Given the description of an element on the screen output the (x, y) to click on. 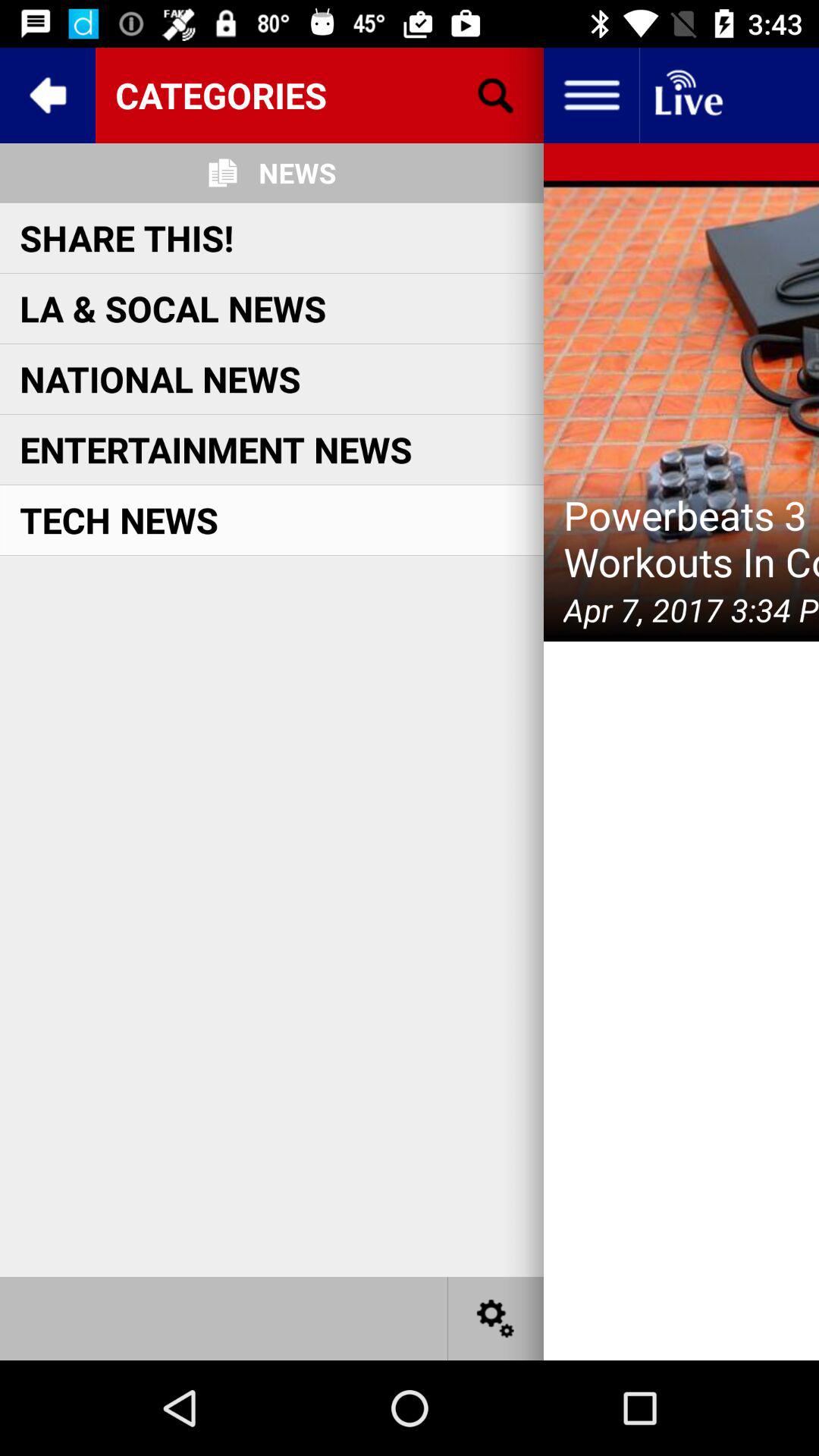
settings of app (495, 1318)
